Given the description of an element on the screen output the (x, y) to click on. 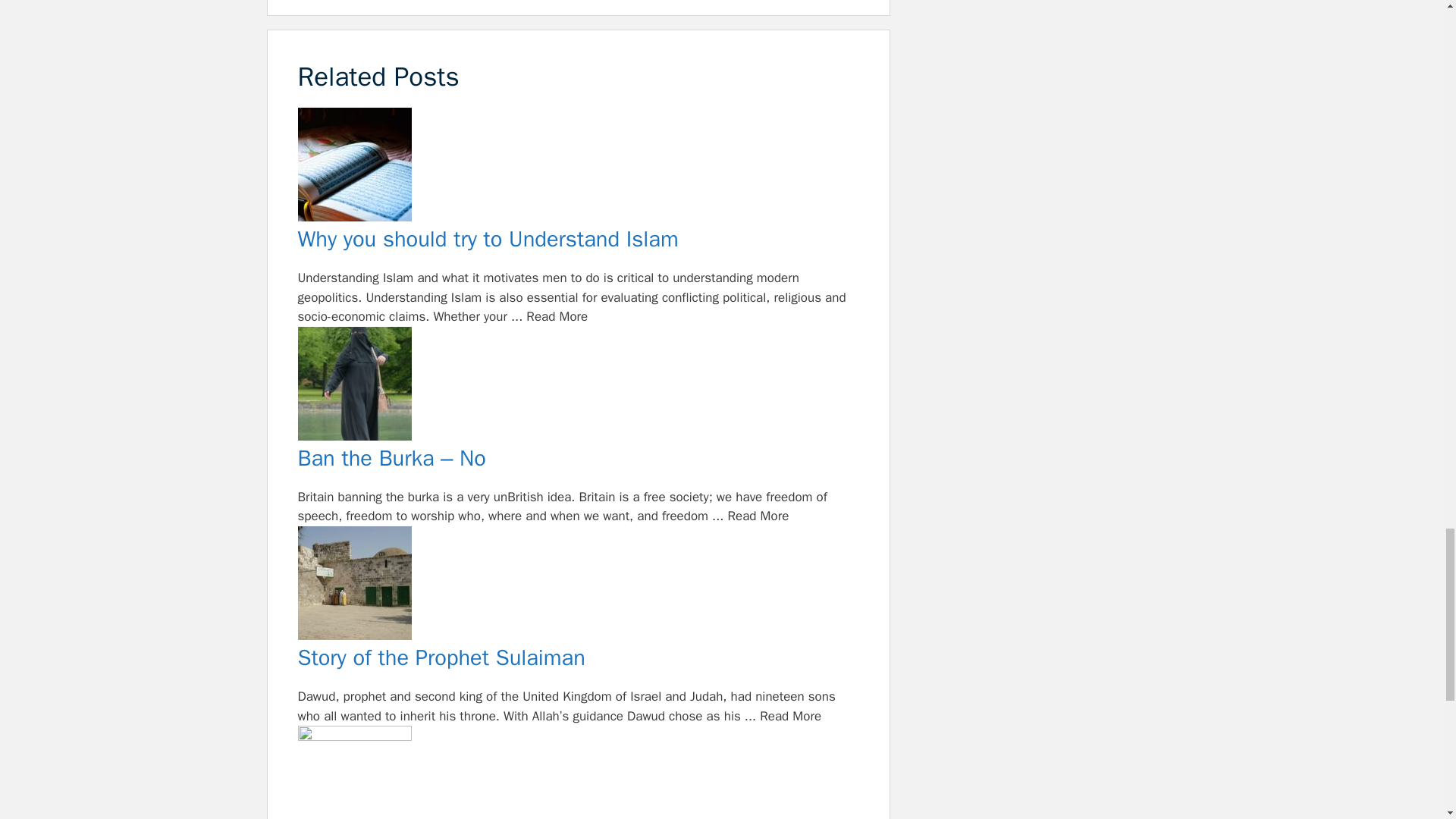
Story of the Prophet Sulaiman (578, 586)
Why you should try to Understand Islam (578, 239)
Islam as the Worlds only Religion (578, 772)
Why you should try to Understand Islam (578, 167)
Story of the Prophet Sulaiman (578, 658)
